Given the description of an element on the screen output the (x, y) to click on. 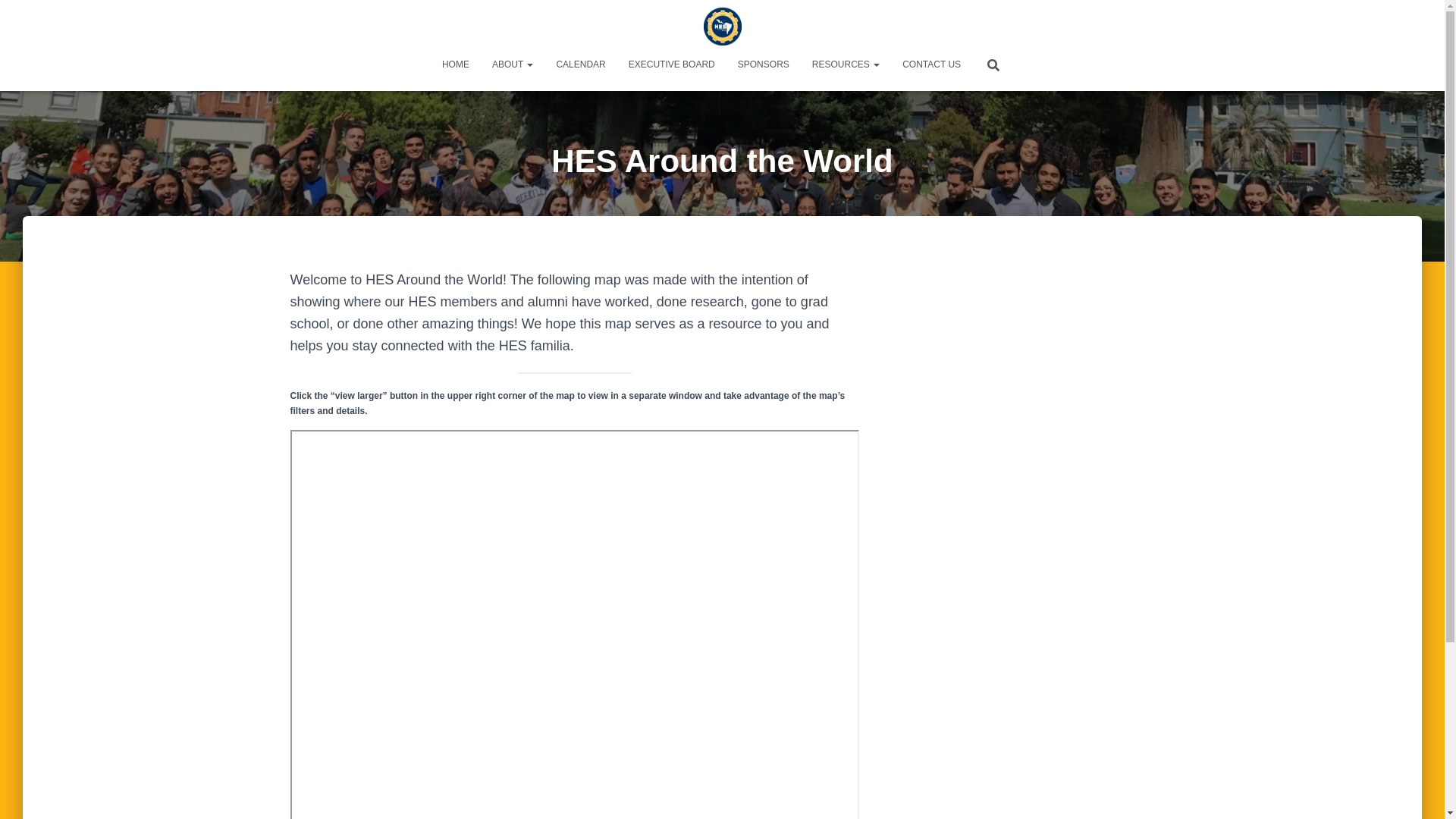
Calendar (579, 64)
SPONSORS (763, 64)
Hispanic Engineers and Scientists (721, 26)
CALENDAR (579, 64)
Contact Us (931, 64)
ABOUT (512, 64)
Home (455, 64)
HOME (455, 64)
RESOURCES (845, 64)
Executive Board (671, 64)
